Given the description of an element on the screen output the (x, y) to click on. 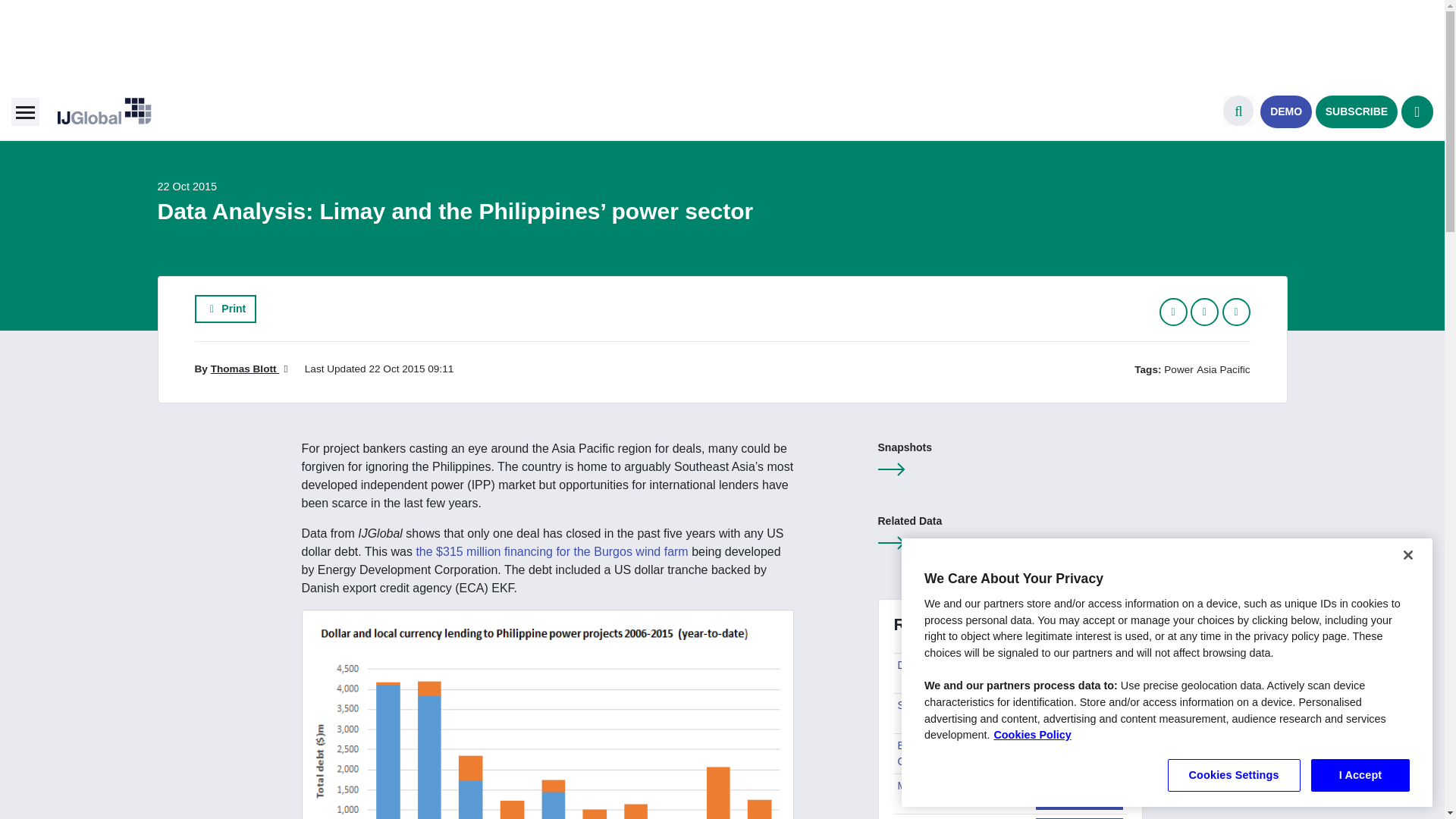
SUBSCRIBE (1356, 111)
Click to share this on Twitter (1173, 311)
3rd party ad content (721, 37)
Click to share this on Linked In (1204, 311)
Toggle navigation (25, 111)
SIGN IN (1416, 111)
DEMO (1285, 111)
Click to share this via Email (1236, 311)
Print (224, 308)
